Given the description of an element on the screen output the (x, y) to click on. 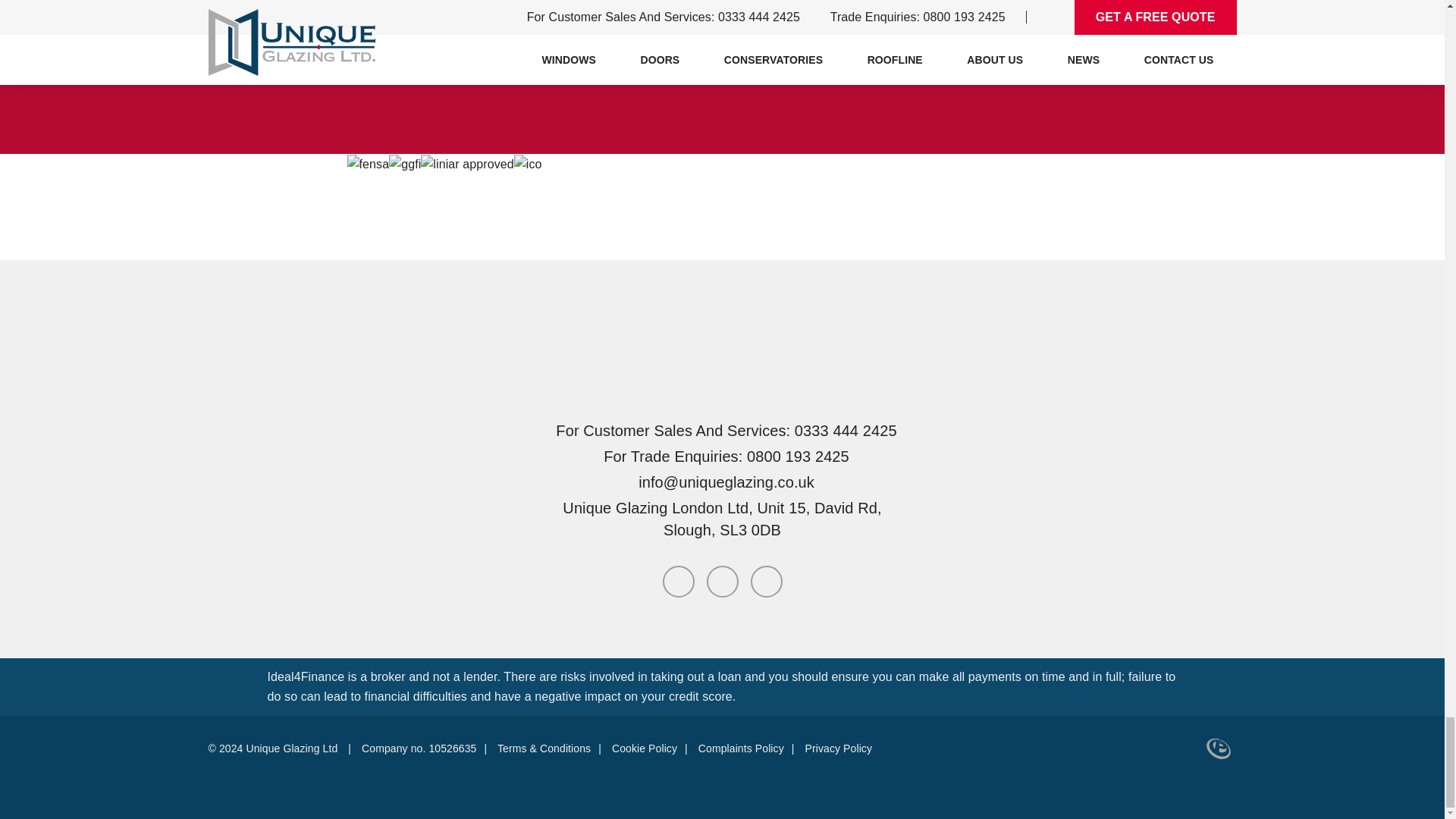
View the website terms and conditions (544, 748)
View the complaints policy (741, 748)
View the website cookie policy (644, 748)
View the privacy policy (838, 748)
